Given the description of an element on the screen output the (x, y) to click on. 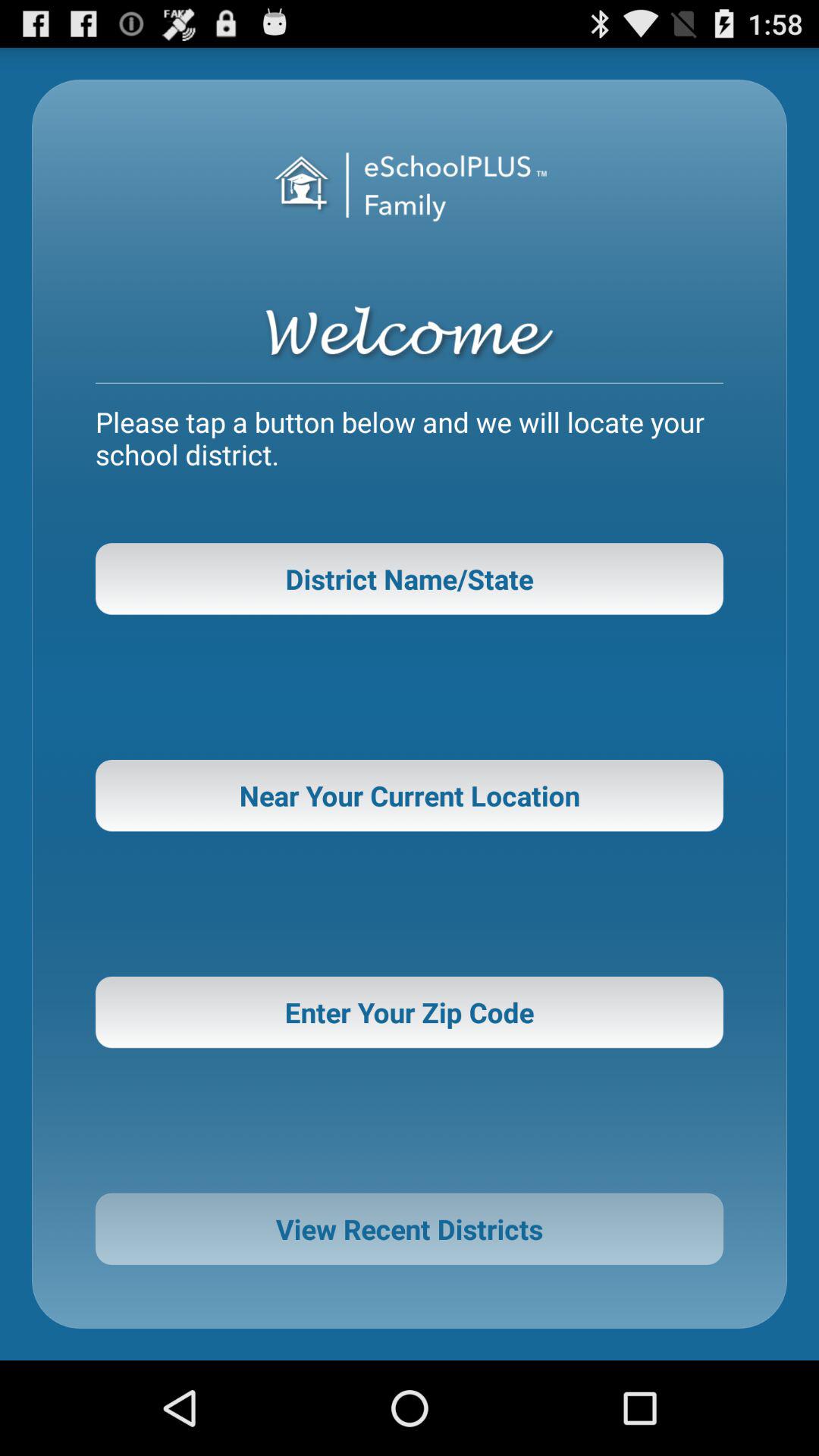
select the item below the district name/state icon (409, 795)
